Given the description of an element on the screen output the (x, y) to click on. 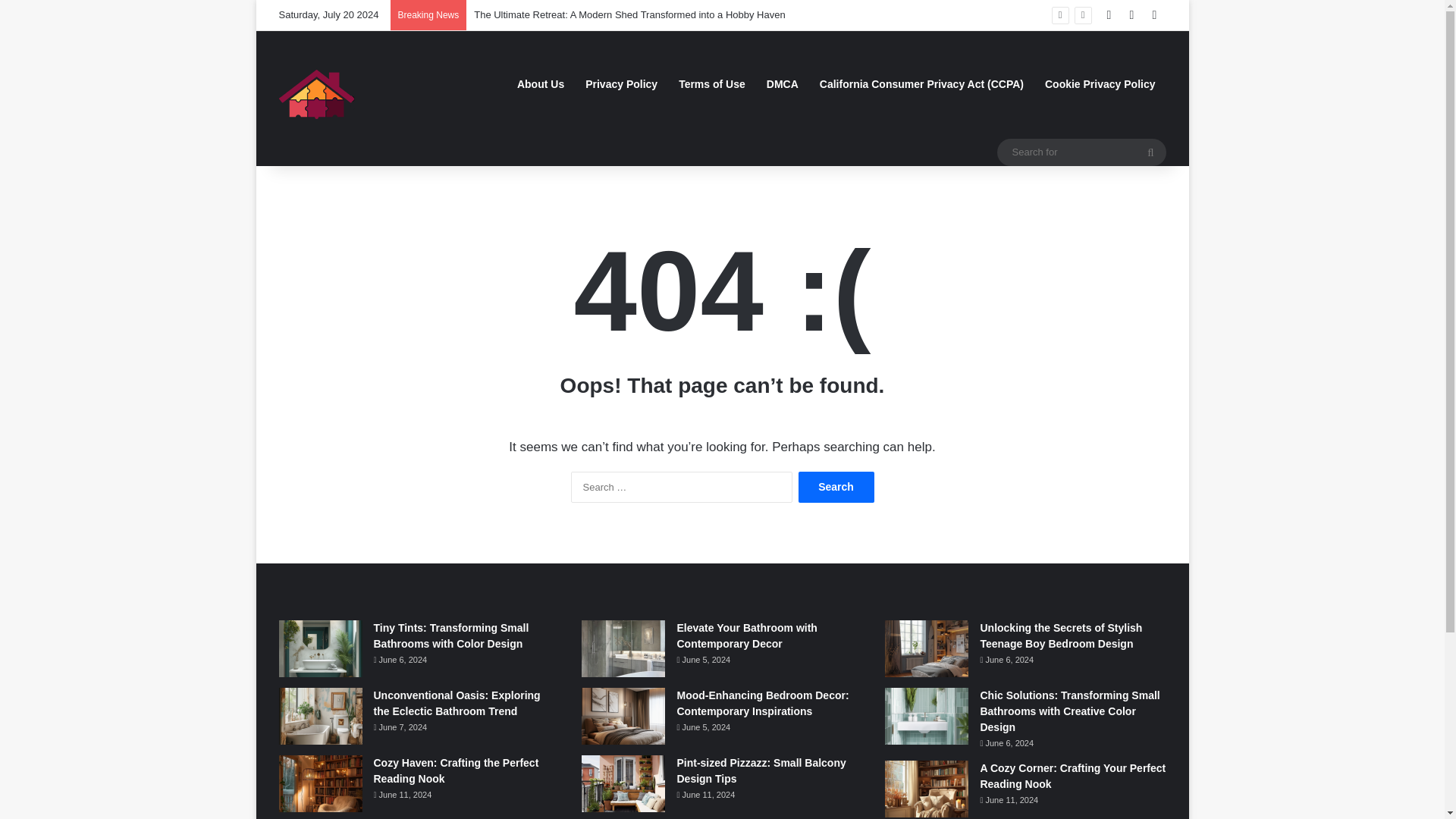
Search (835, 486)
Search (835, 486)
Tiny Tints: Transforming Small Bathrooms with Color Design (450, 635)
Elevate Your Bathroom with Contemporary Decor (746, 635)
picsstyle (317, 97)
Cookie Privacy Policy (1099, 84)
Pint-sized Pizzazz: Small Balcony Design Tips (761, 770)
Unlocking the Secrets of Stylish Teenage Boy Bedroom Design (1060, 635)
Search for (1080, 151)
Search (835, 486)
Cozy Haven: Crafting the Perfect Reading Nook (455, 770)
Mood-Enhancing Bedroom Decor: Contemporary Inspirations (762, 703)
Unconventional Oasis: Exploring the Eclectic Bathroom Trend (456, 703)
